Given the description of an element on the screen output the (x, y) to click on. 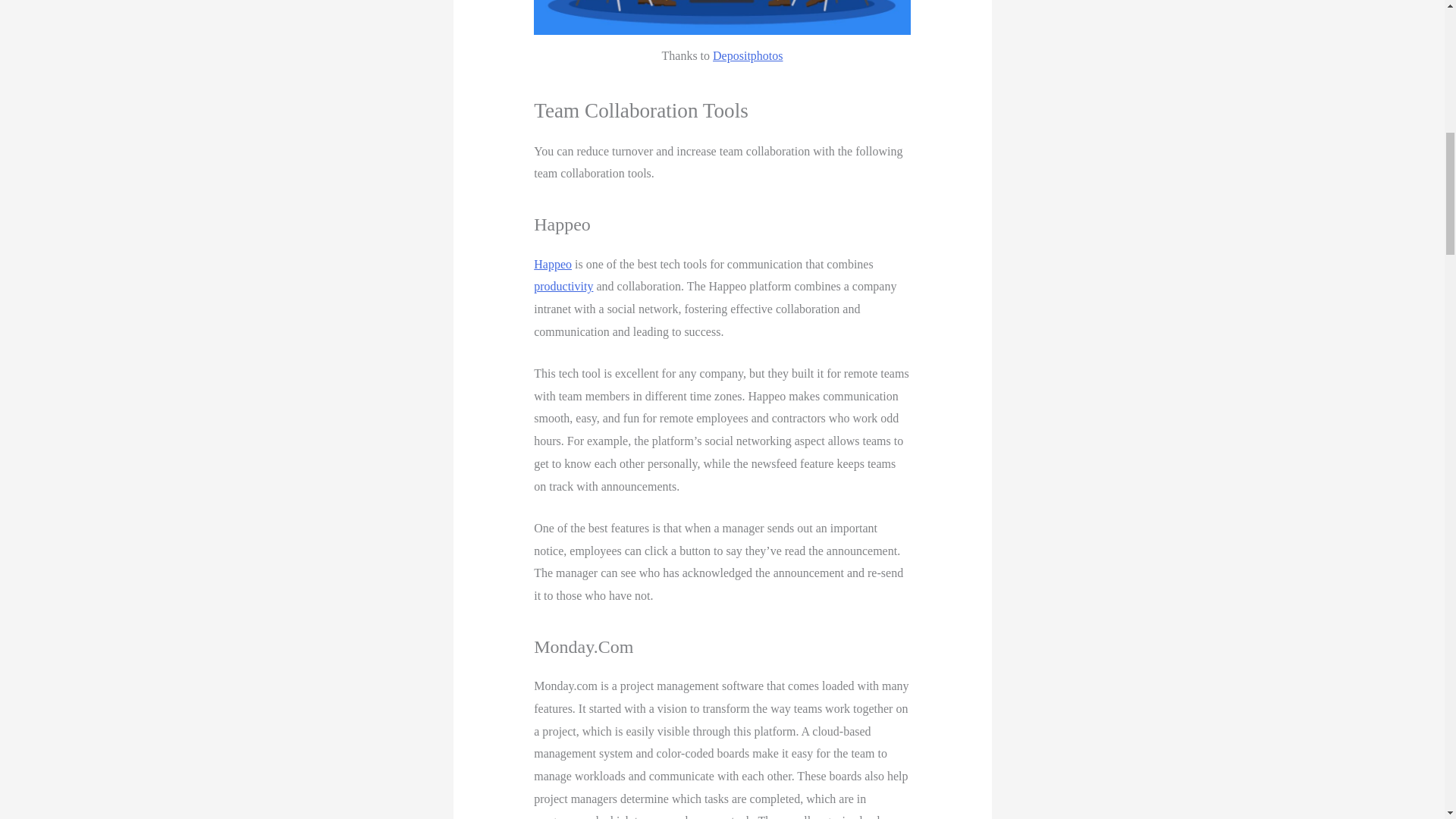
Depositphotos (748, 55)
productivity (563, 286)
Happeo (553, 264)
